Given the description of an element on the screen output the (x, y) to click on. 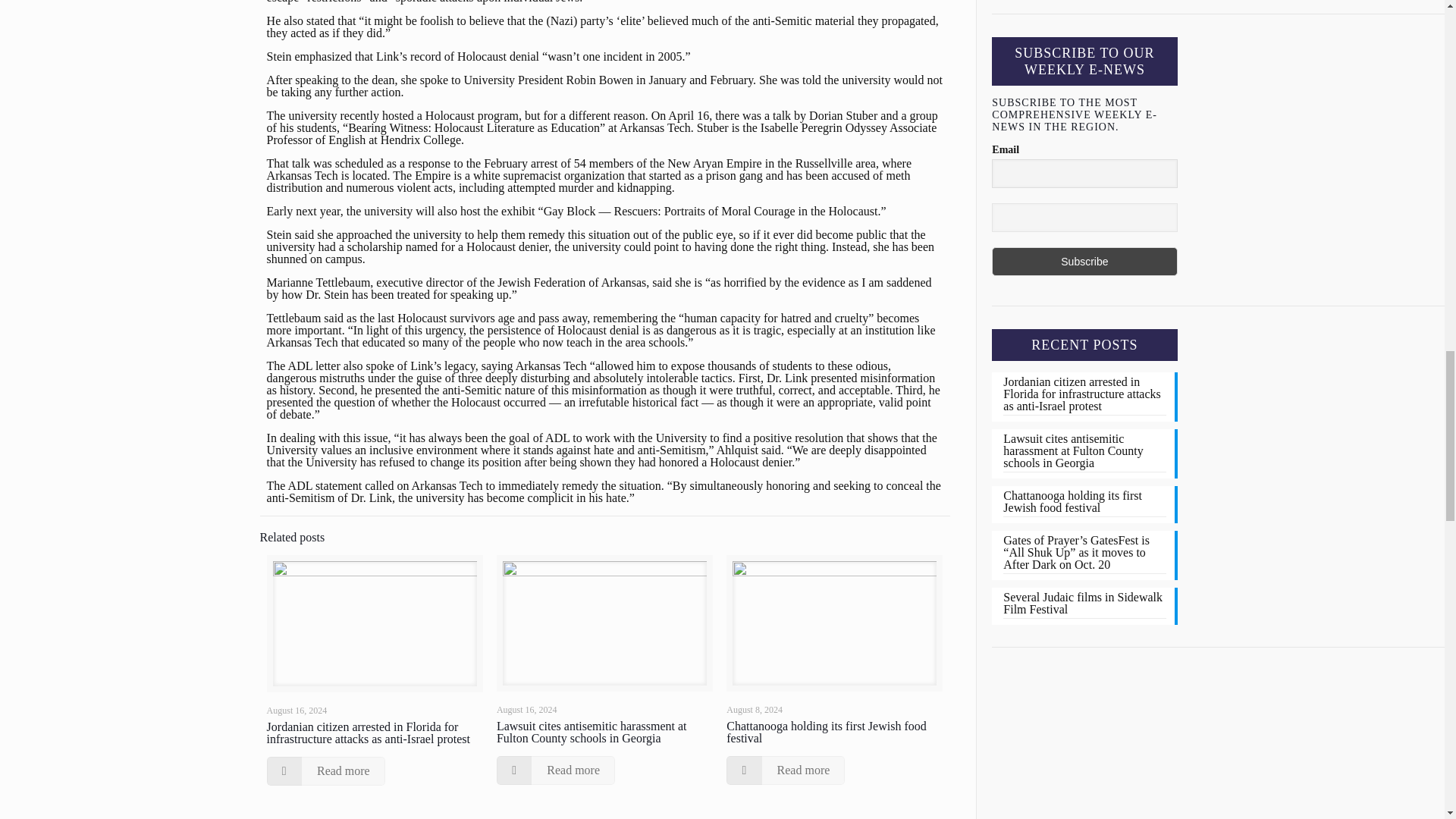
Read more (555, 769)
Read more (325, 770)
Subscribe (1083, 261)
